Given the description of an element on the screen output the (x, y) to click on. 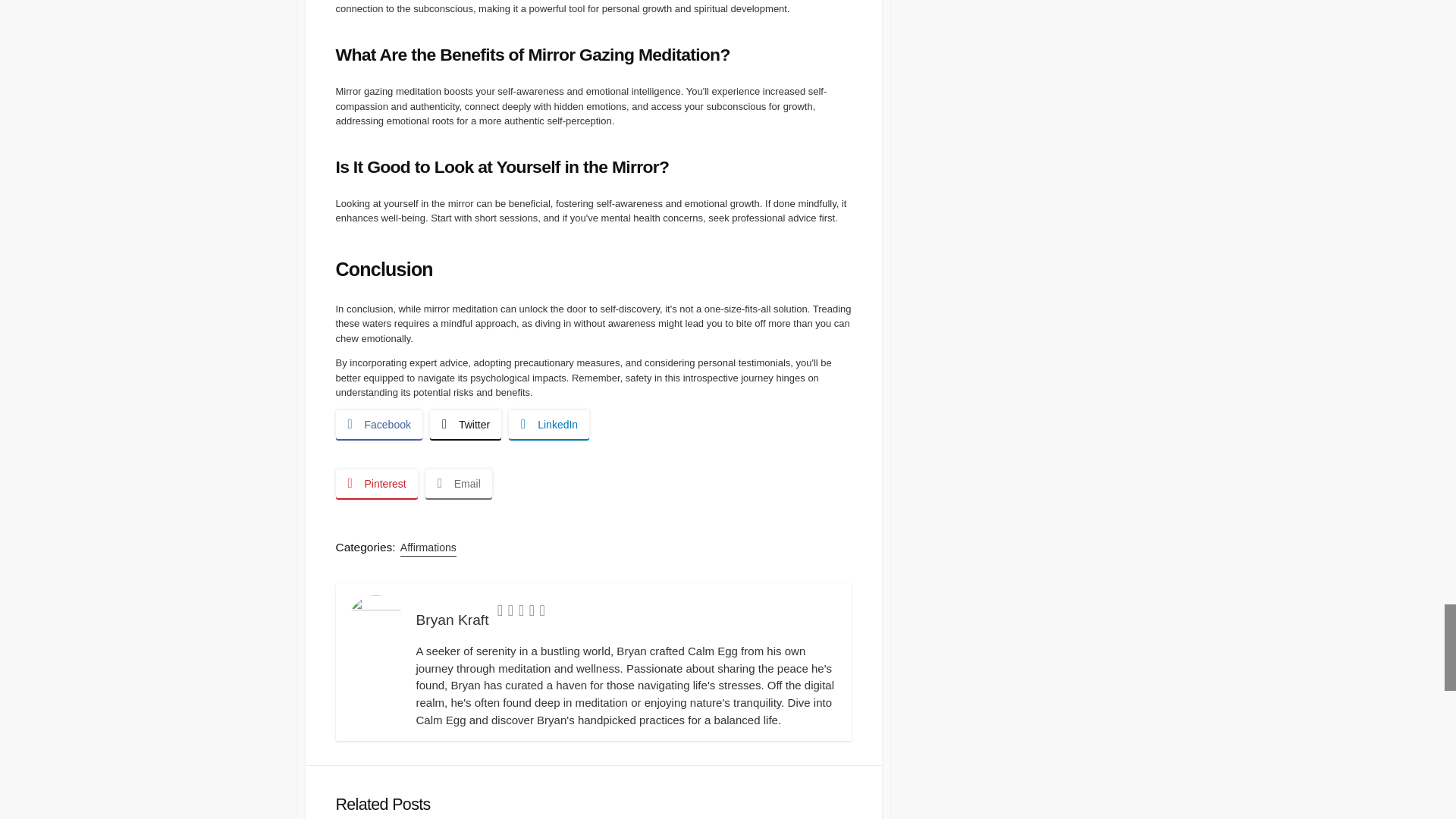
Instagram (531, 612)
Linkedin (521, 612)
Pinterest (542, 612)
Twitter (499, 612)
Facebook (510, 612)
